Given the description of an element on the screen output the (x, y) to click on. 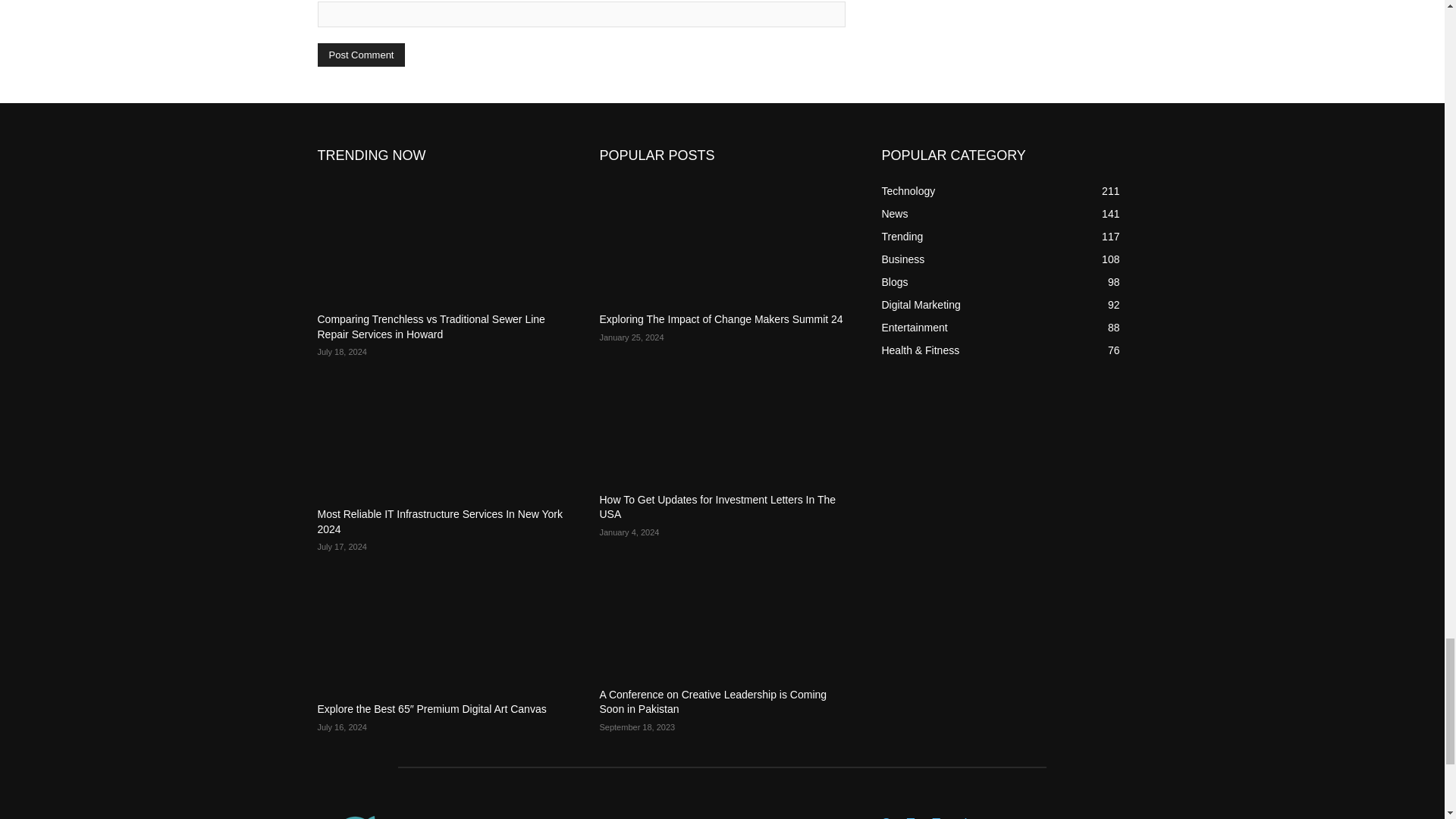
Post Comment (360, 54)
